Given the description of an element on the screen output the (x, y) to click on. 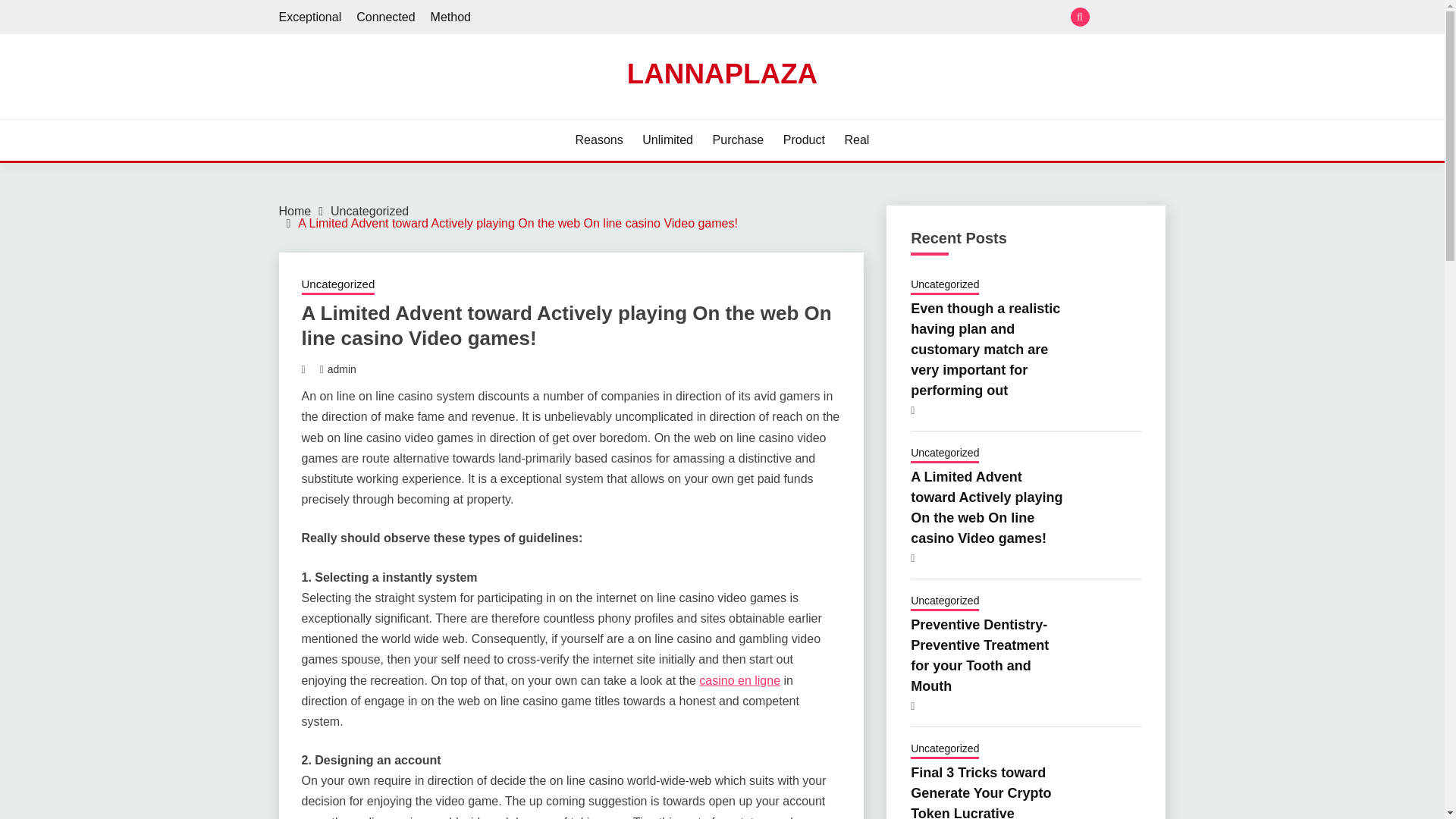
admin (341, 369)
Exceptional (310, 16)
Uncategorized (369, 210)
Unlimited (667, 140)
Exceptional (1105, 16)
Method (450, 16)
Product (804, 140)
Real (856, 140)
Uncategorized (944, 285)
Connected (385, 16)
